Given the description of an element on the screen output the (x, y) to click on. 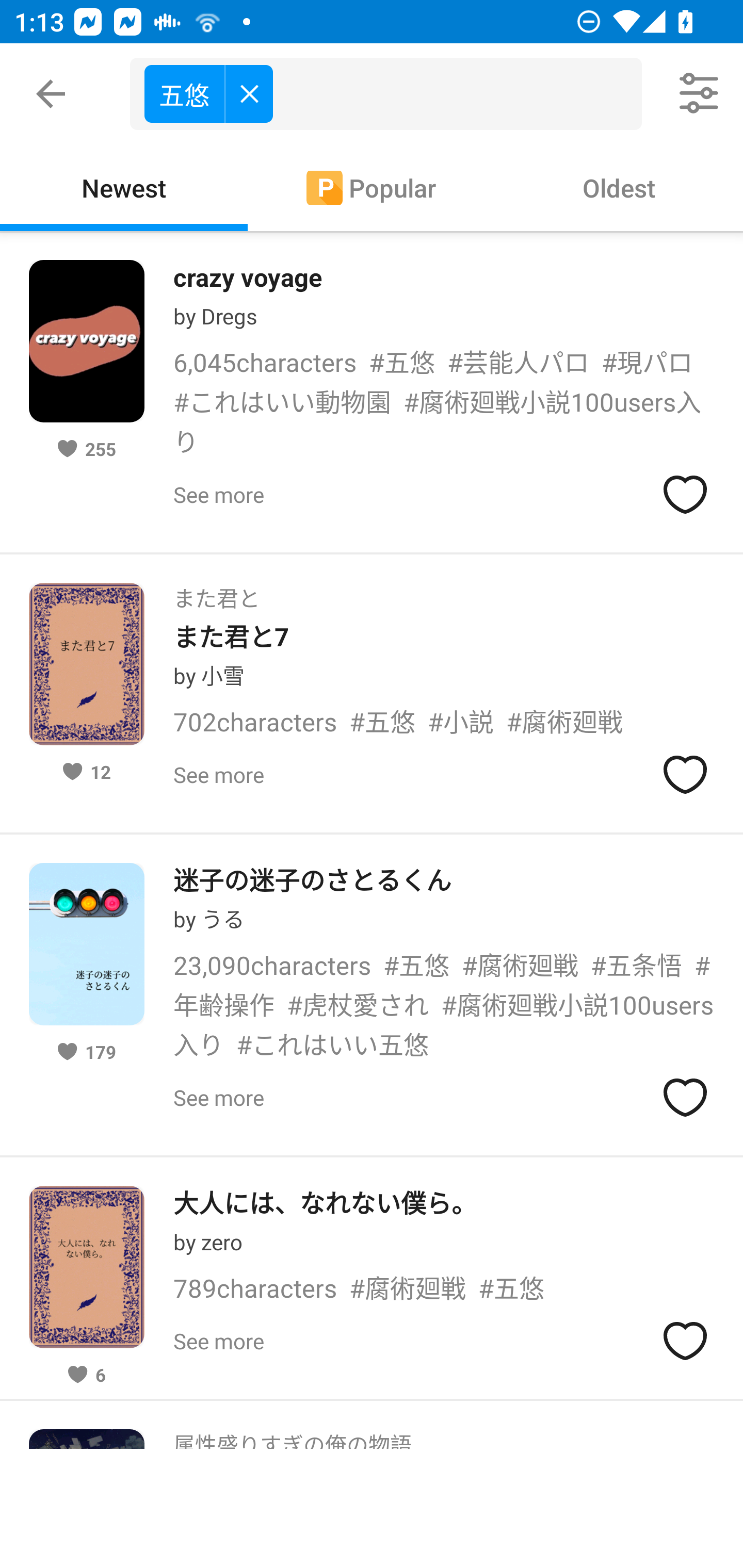
Navigate up (50, 93)
Filters (699, 93)
五悠 (392, 94)
五悠 (208, 93)
[P] Popular (371, 187)
Oldest (619, 187)
また君と (216, 592)
